Given the description of an element on the screen output the (x, y) to click on. 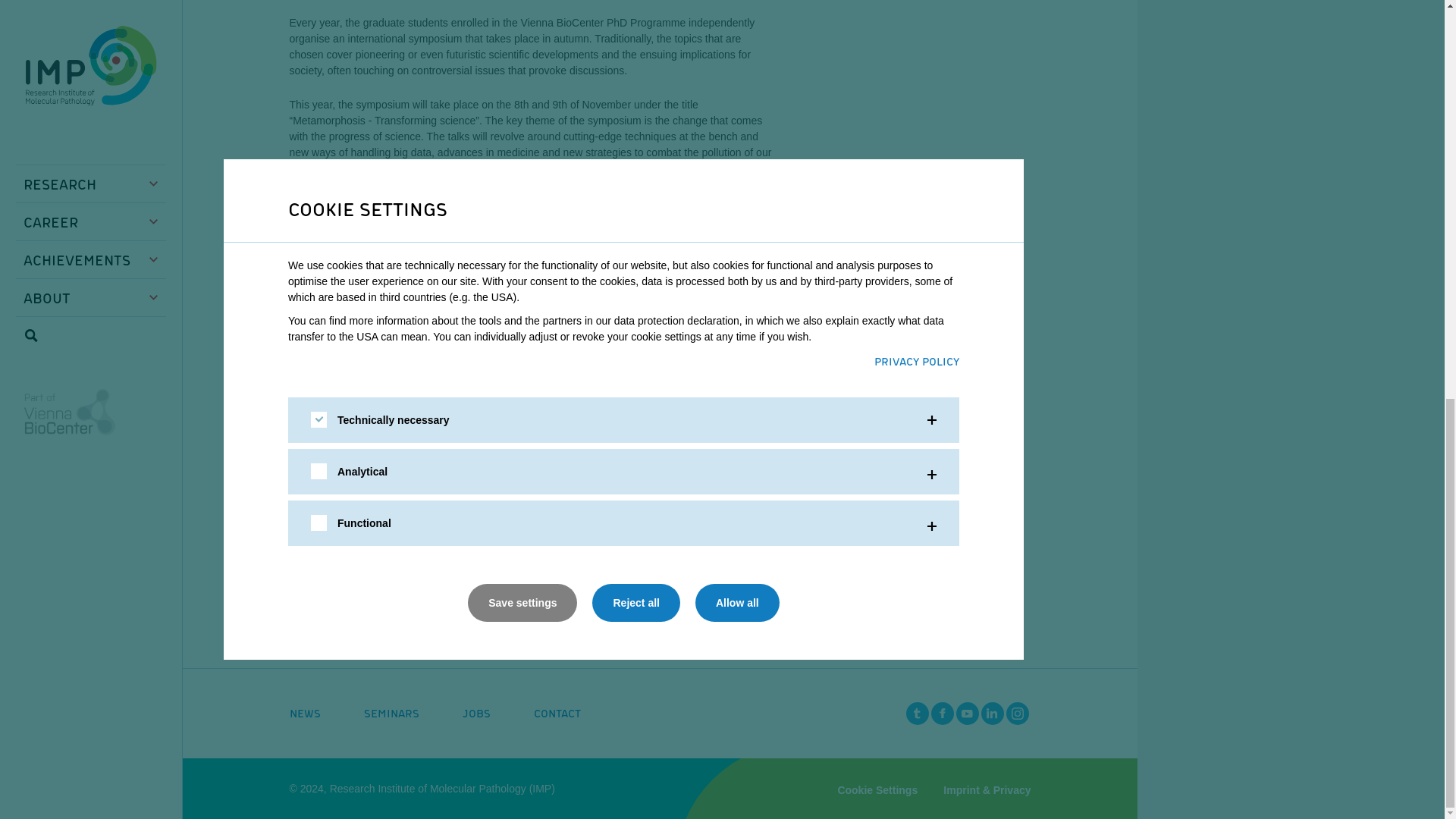
Facebook (942, 712)
Youtube (966, 712)
Jobs (476, 712)
Seminars (391, 712)
Contact (557, 712)
Twitter (916, 712)
VBC PhD Programme Website (526, 382)
Linkedin (992, 712)
News (304, 712)
